Given the description of an element on the screen output the (x, y) to click on. 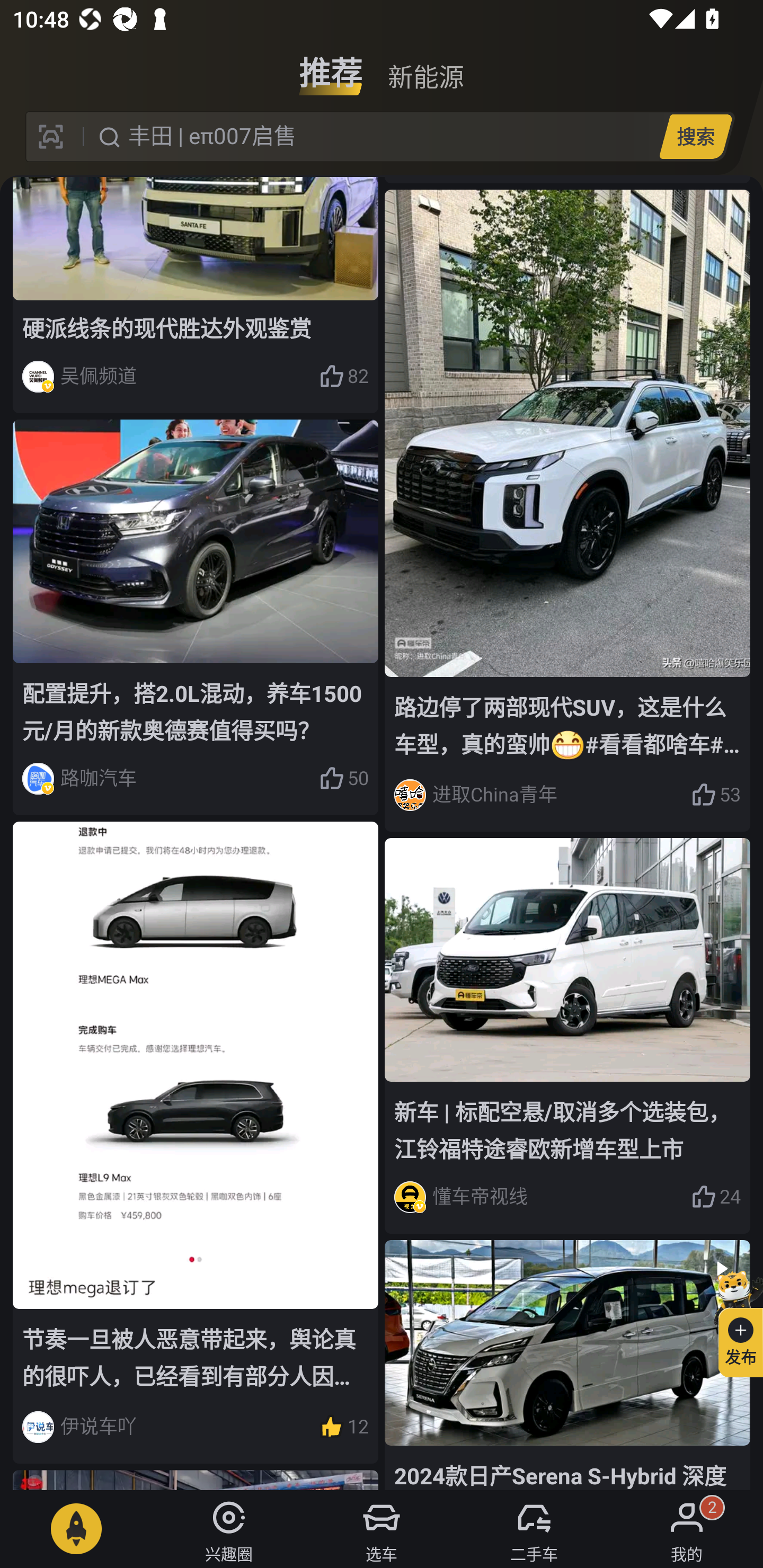
推荐 (330, 65)
新能源 (425, 65)
搜索 (695, 136)
硬派线条的现代胜达外观鉴赏 吴佩频道 82 (195, 295)
82 (343, 375)
配置提升，搭2.0L混动，养车1500元/月的新款奥德赛值得买吗？ 路咖汽车 50 (195, 617)
50 (343, 778)
53 (715, 794)
新车 | 标配空悬/取消多个选装包，江铃福特途睿欧新增车型上市 懂车帝视线 24 (567, 1035)
24 (715, 1196)
 2024款日产Serena S-Hybrid 深度体验外观和内饰 (567, 1364)
发布 (732, 1321)
12 (343, 1426)
 兴趣圈 (228, 1528)
 选车 (381, 1528)
 二手车 (533, 1528)
 我的 (686, 1528)
